Given the description of an element on the screen output the (x, y) to click on. 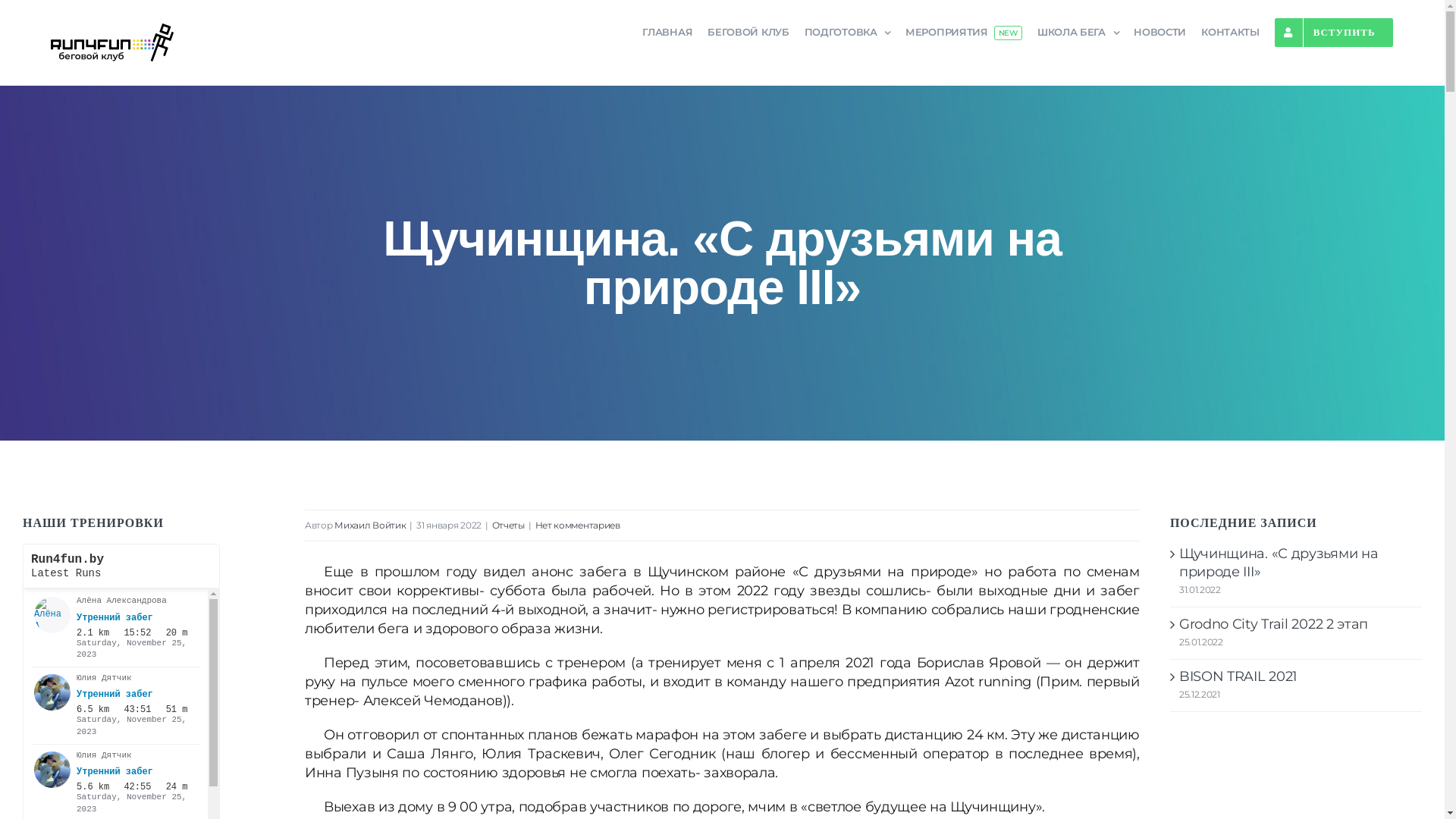
BISON TRAIL 2021 Element type: text (1238, 676)
